Given the description of an element on the screen output the (x, y) to click on. 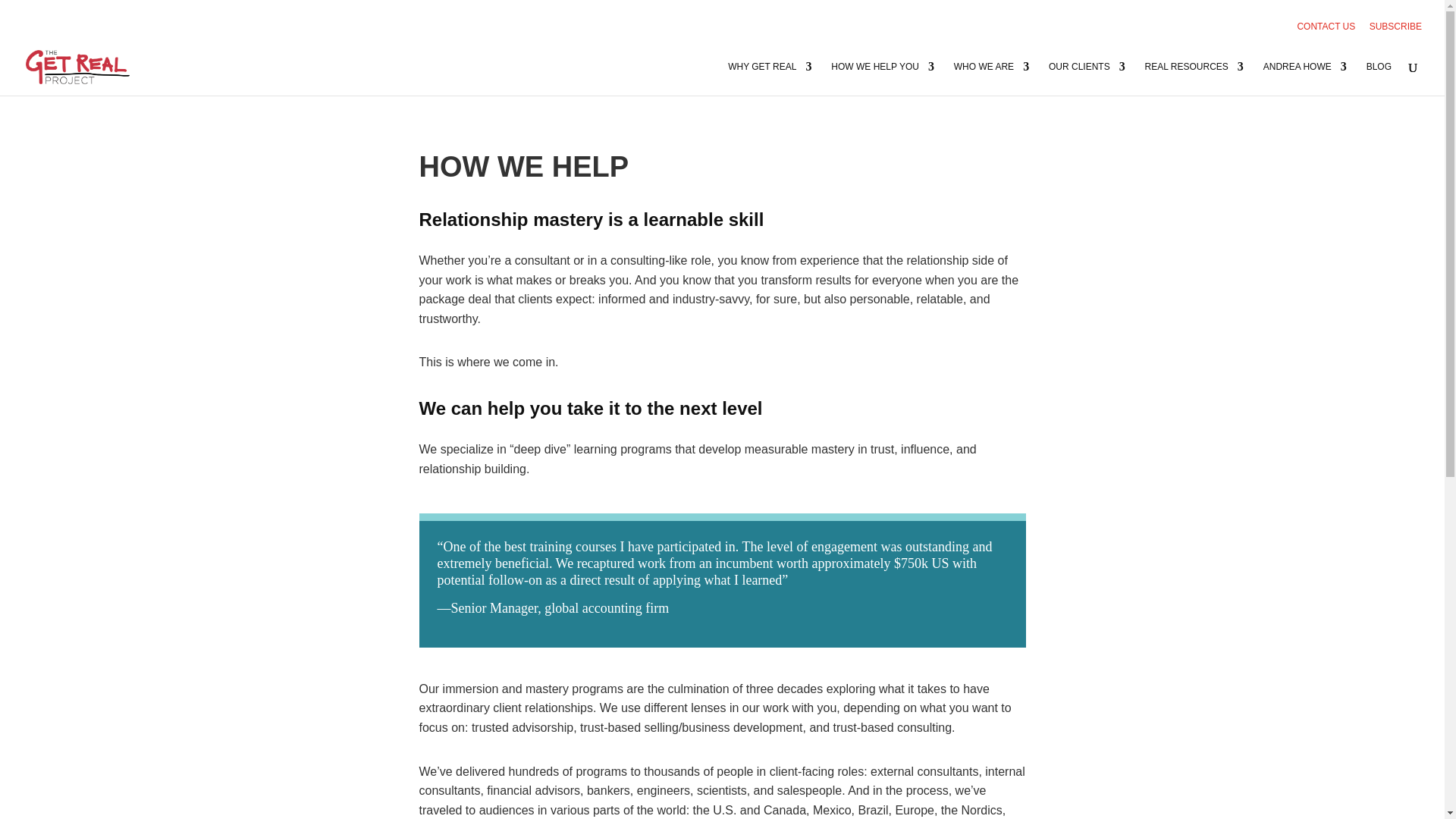
WHO WE ARE (991, 78)
SUBSCRIBE (1396, 29)
HOW WE HELP YOU (882, 78)
WHY GET REAL (769, 78)
Contact Us (1326, 29)
Why Get Real (769, 78)
Subscribe (1396, 29)
OUR CLIENTS (1086, 78)
How we help you (882, 78)
REAL RESOURCES (1193, 78)
CONTACT US (1326, 29)
